Given the description of an element on the screen output the (x, y) to click on. 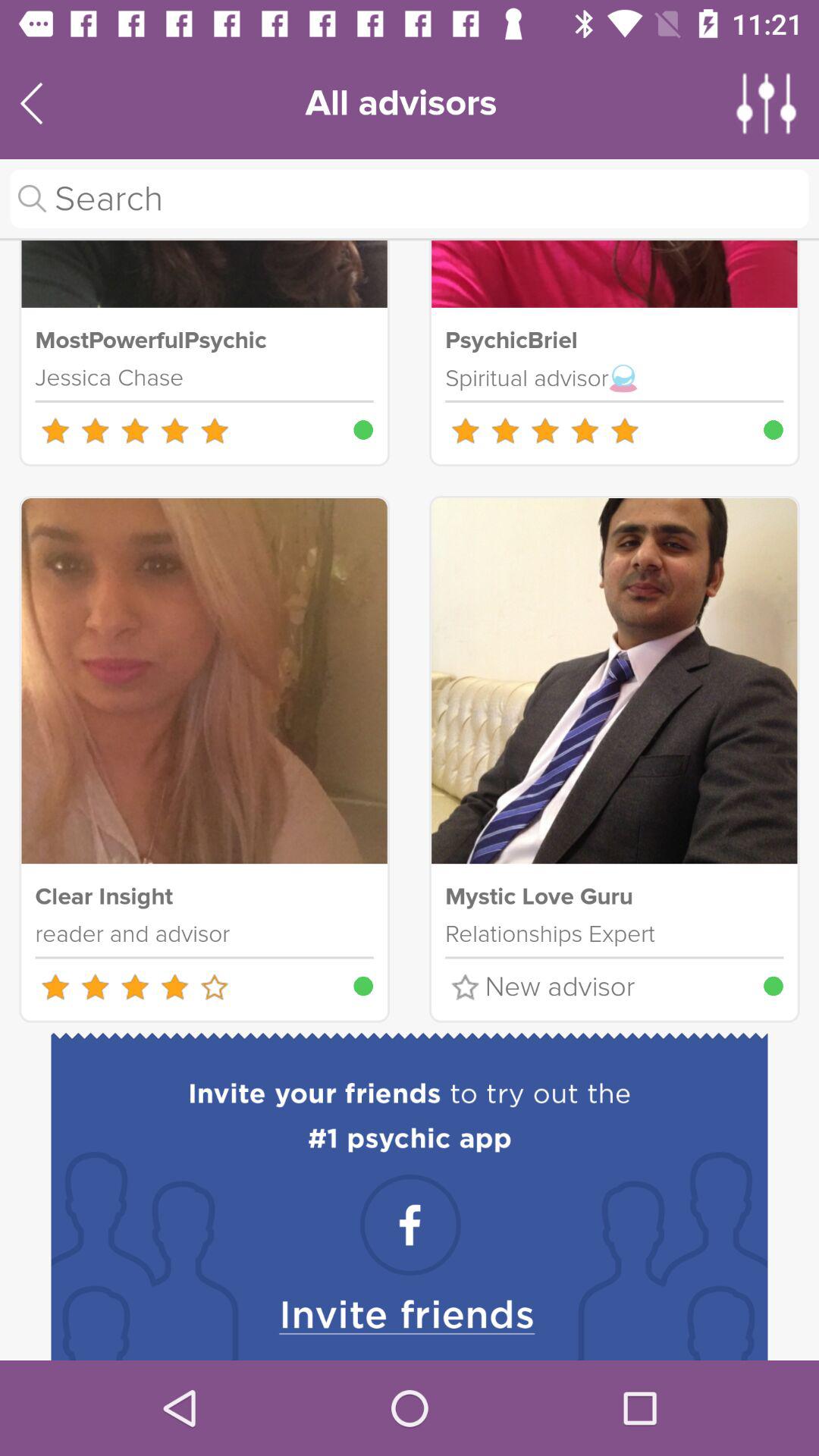
app settings (767, 103)
